Given the description of an element on the screen output the (x, y) to click on. 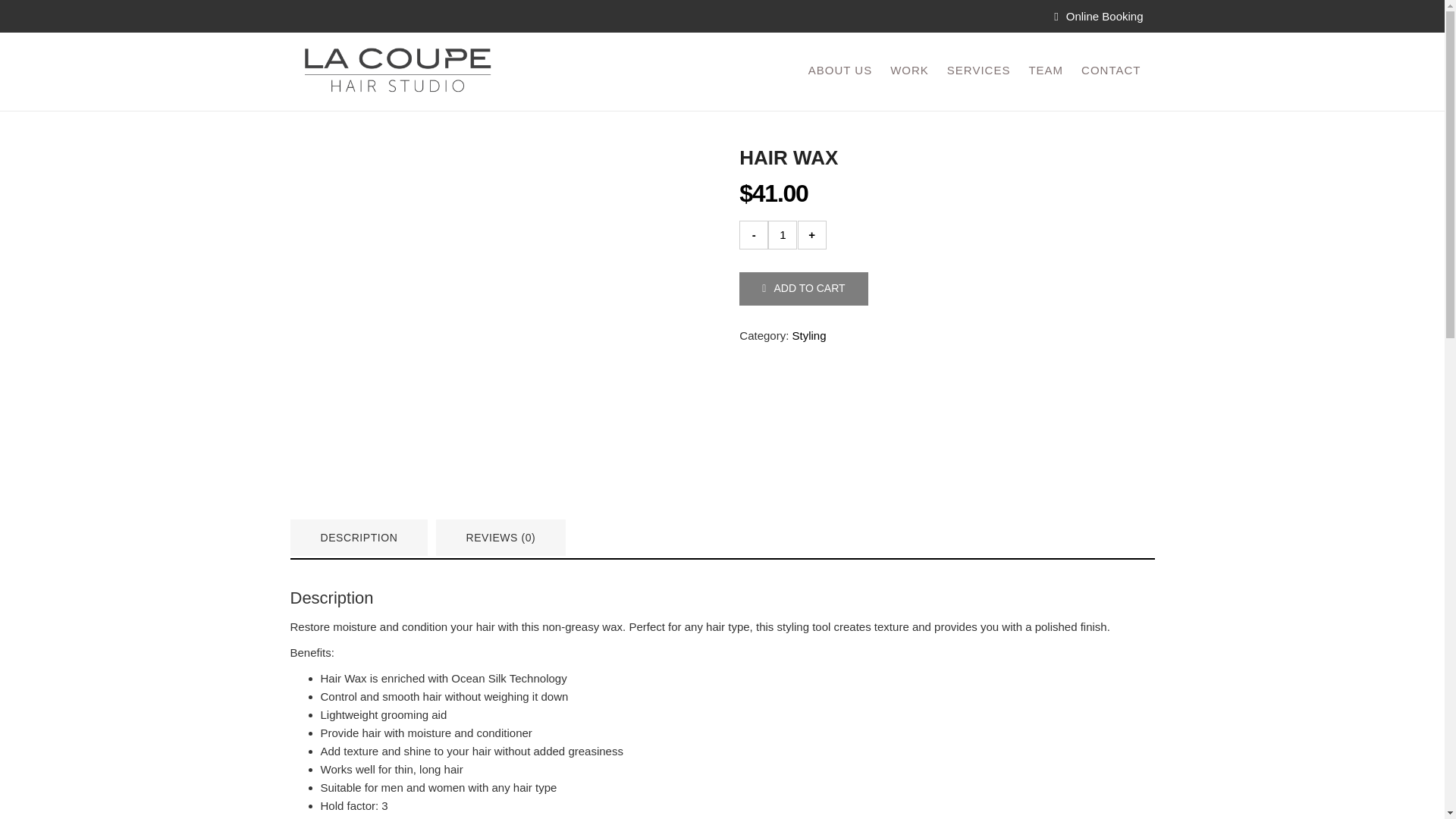
Services (978, 70)
Contact (1110, 70)
ABOUT US (840, 70)
TEAM (1045, 70)
Online Booking (1098, 16)
CONTACT (1110, 70)
ADD TO CART (803, 288)
About us (840, 70)
Styling (809, 335)
- (753, 234)
